Given the description of an element on the screen output the (x, y) to click on. 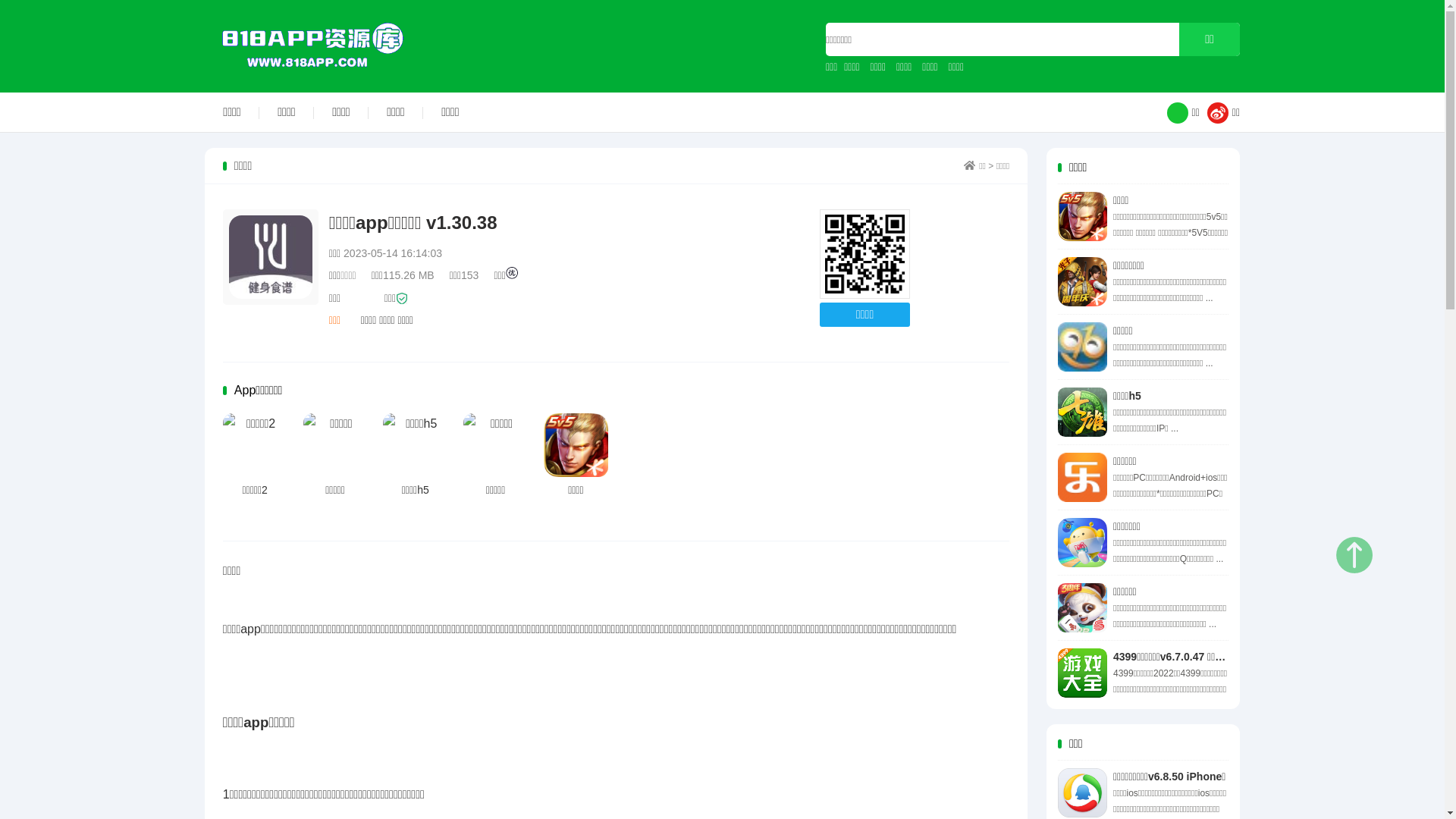
http://www.818app.com Element type: hover (864, 254)
